Given the description of an element on the screen output the (x, y) to click on. 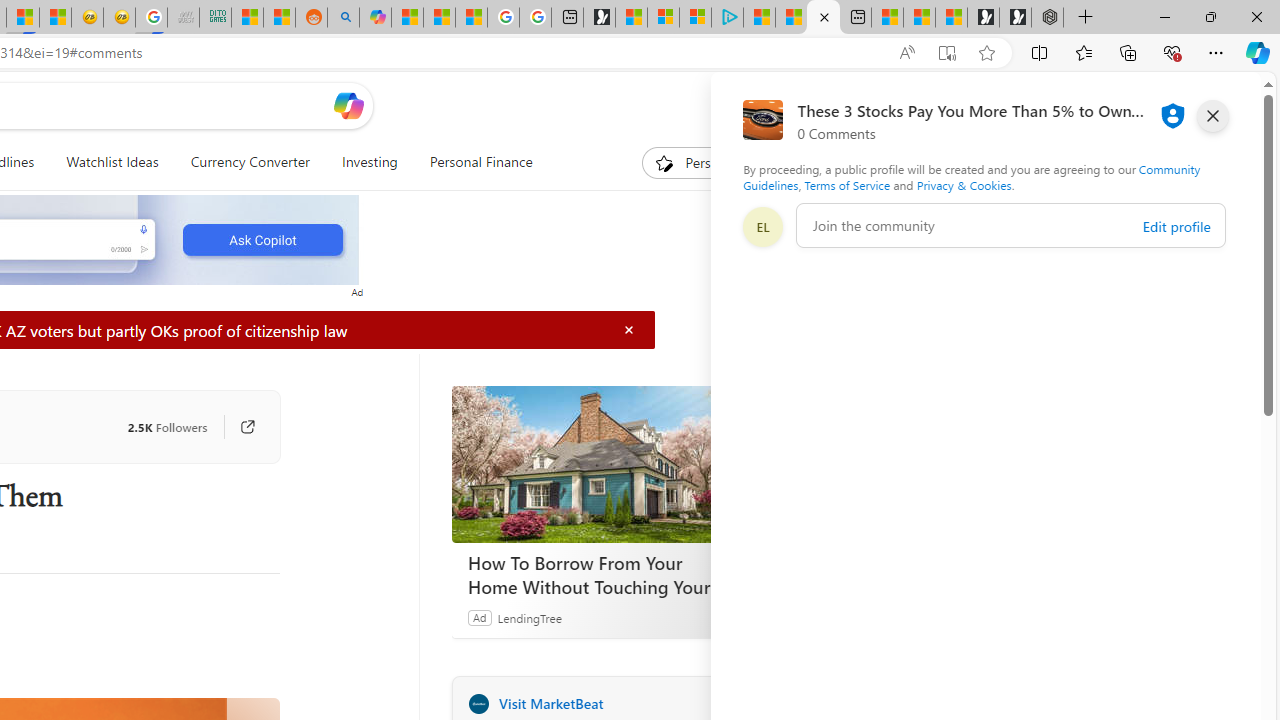
Visit MarketBeat website (726, 703)
